Given the description of an element on the screen output the (x, y) to click on. 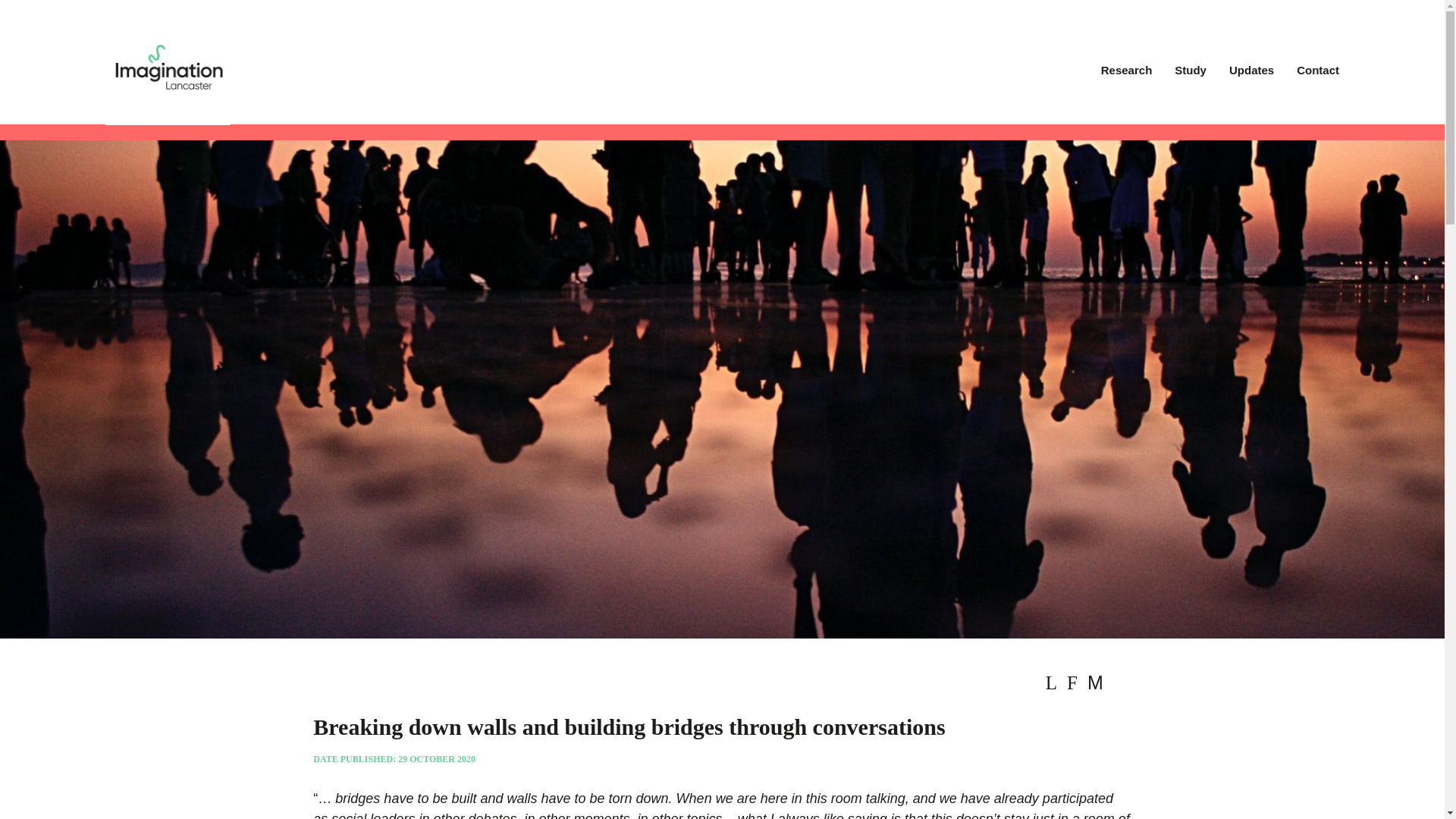
Research (1126, 70)
Study (1190, 70)
Research (1126, 70)
Study (1190, 70)
Contact (1318, 70)
Updates (1251, 70)
Contact (1318, 70)
Updates (1251, 70)
